Given the description of an element on the screen output the (x, y) to click on. 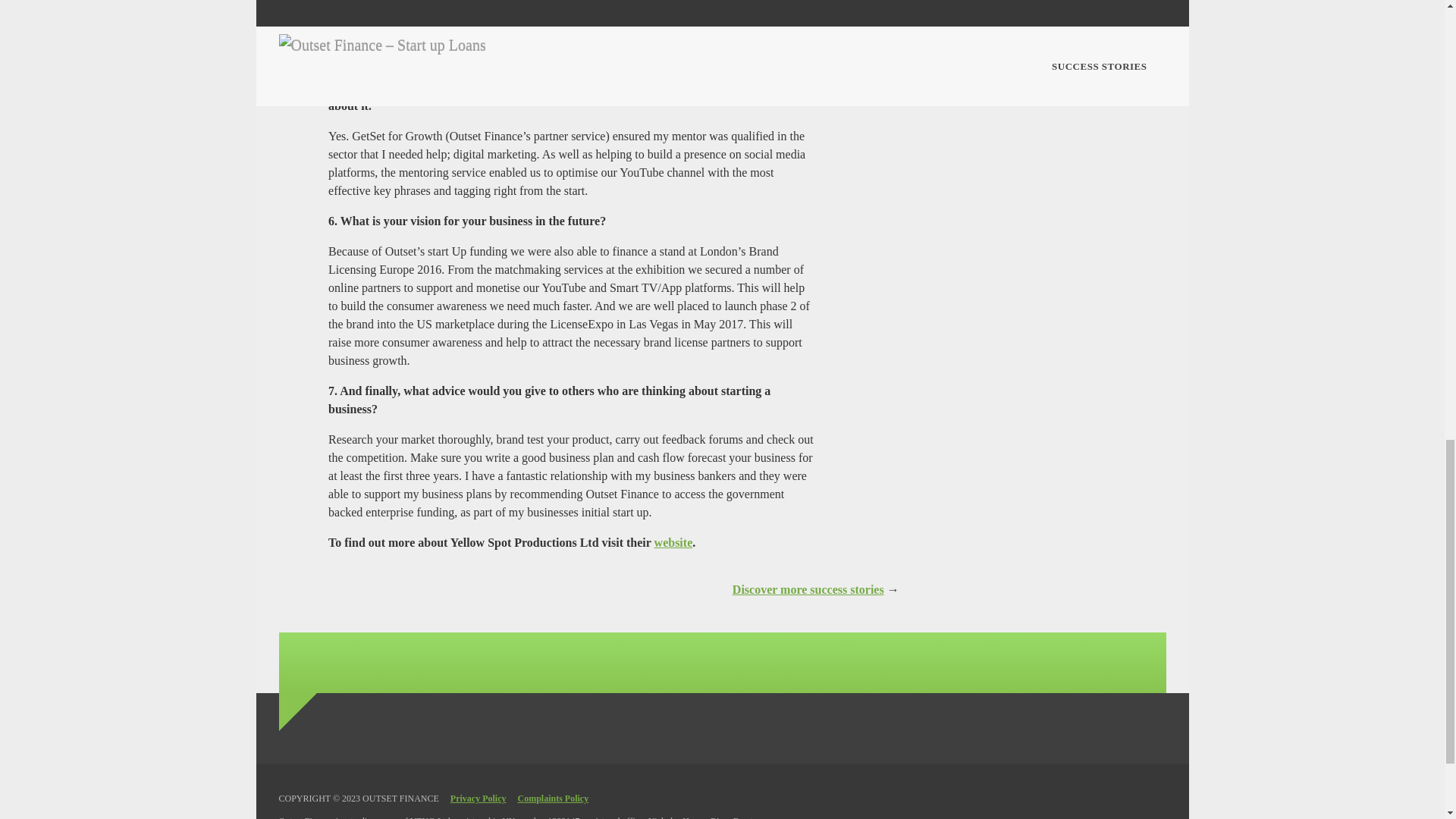
SUCCESS STORIES (807, 589)
Discover more success stories (807, 589)
website (673, 542)
Complaints Policy (552, 798)
Privacy Policy (477, 798)
